Given the description of an element on the screen output the (x, y) to click on. 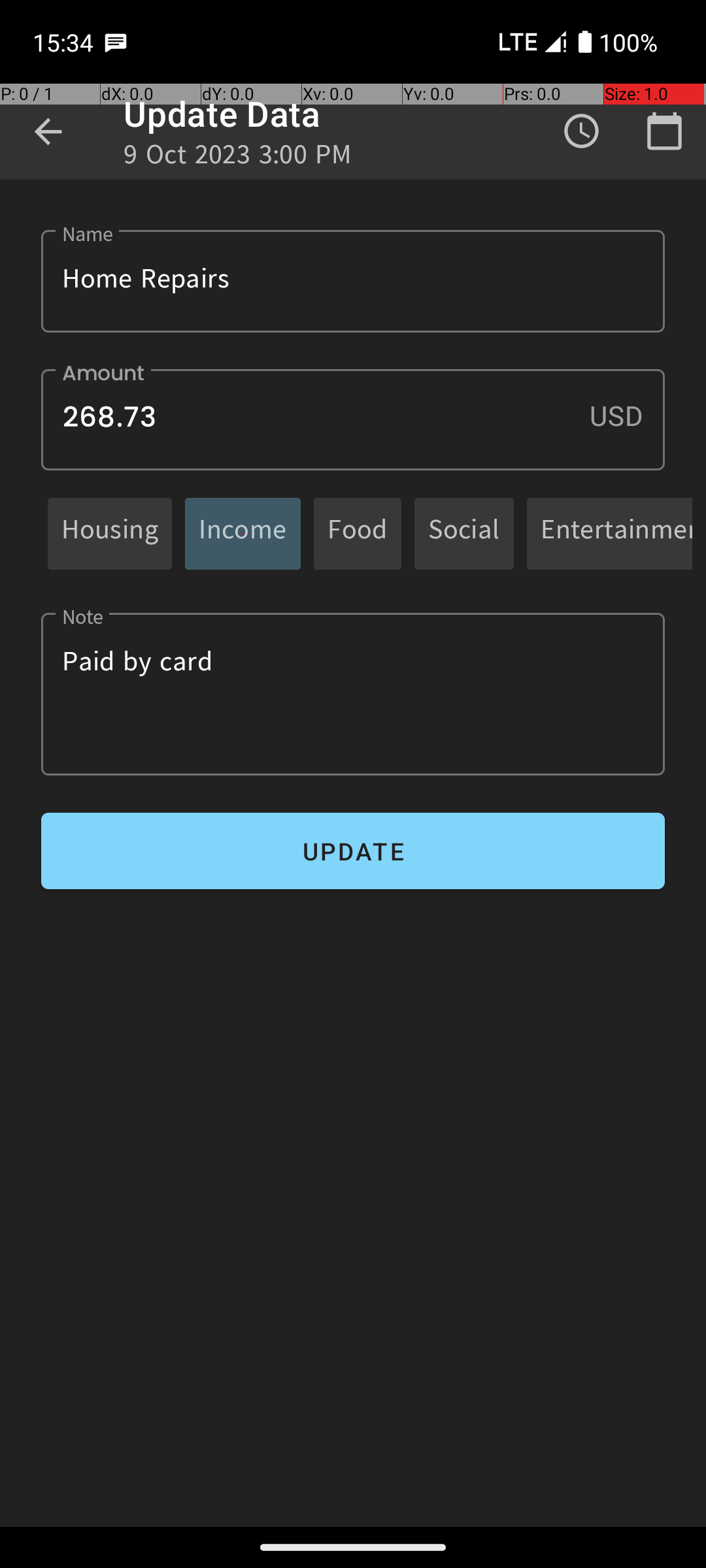
9 Oct 2023 3:00 PM Element type: android.widget.TextView (237, 157)
Home Repairs Element type: android.widget.EditText (352, 280)
268.73 Element type: android.widget.EditText (352, 419)
